Given the description of an element on the screen output the (x, y) to click on. 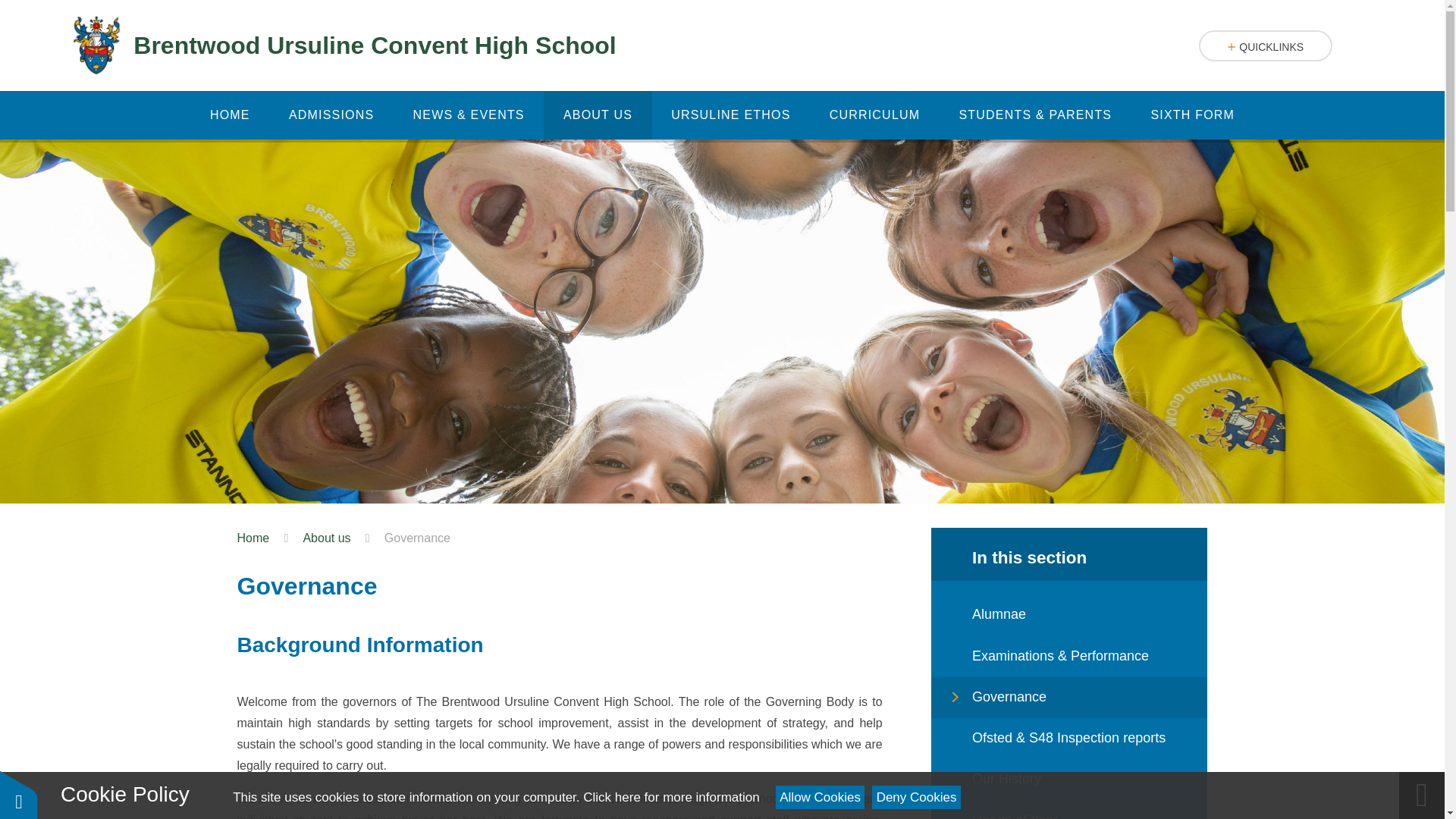
See cookie policy (670, 797)
ABOUT US (596, 114)
HOME (229, 114)
ADMISSIONS (331, 114)
Deny Cookies (915, 797)
Brentwood Ursuline Convent High School (343, 45)
Allow Cookies (820, 797)
